Given the description of an element on the screen output the (x, y) to click on. 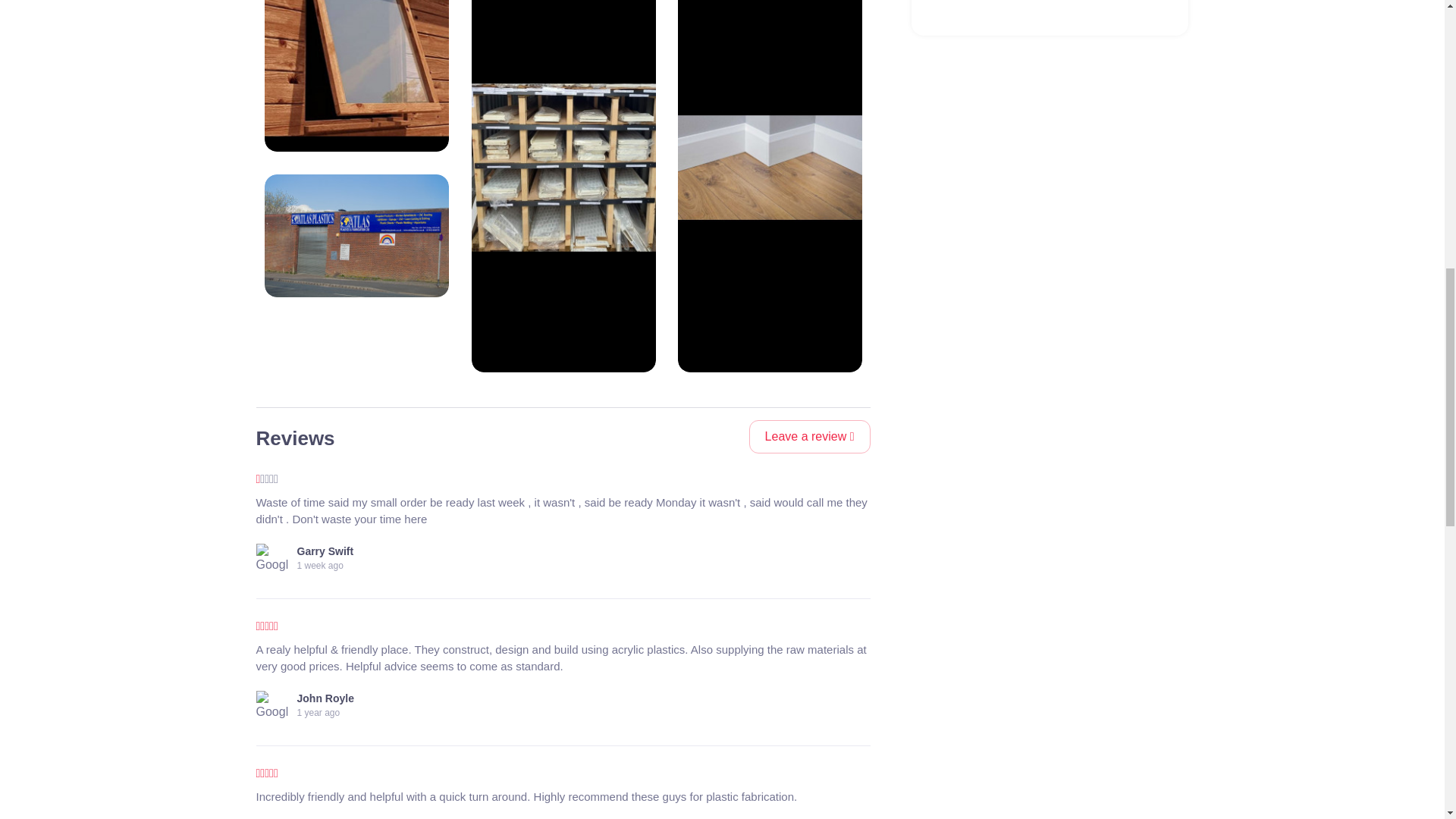
Leave a review (809, 436)
